Given the description of an element on the screen output the (x, y) to click on. 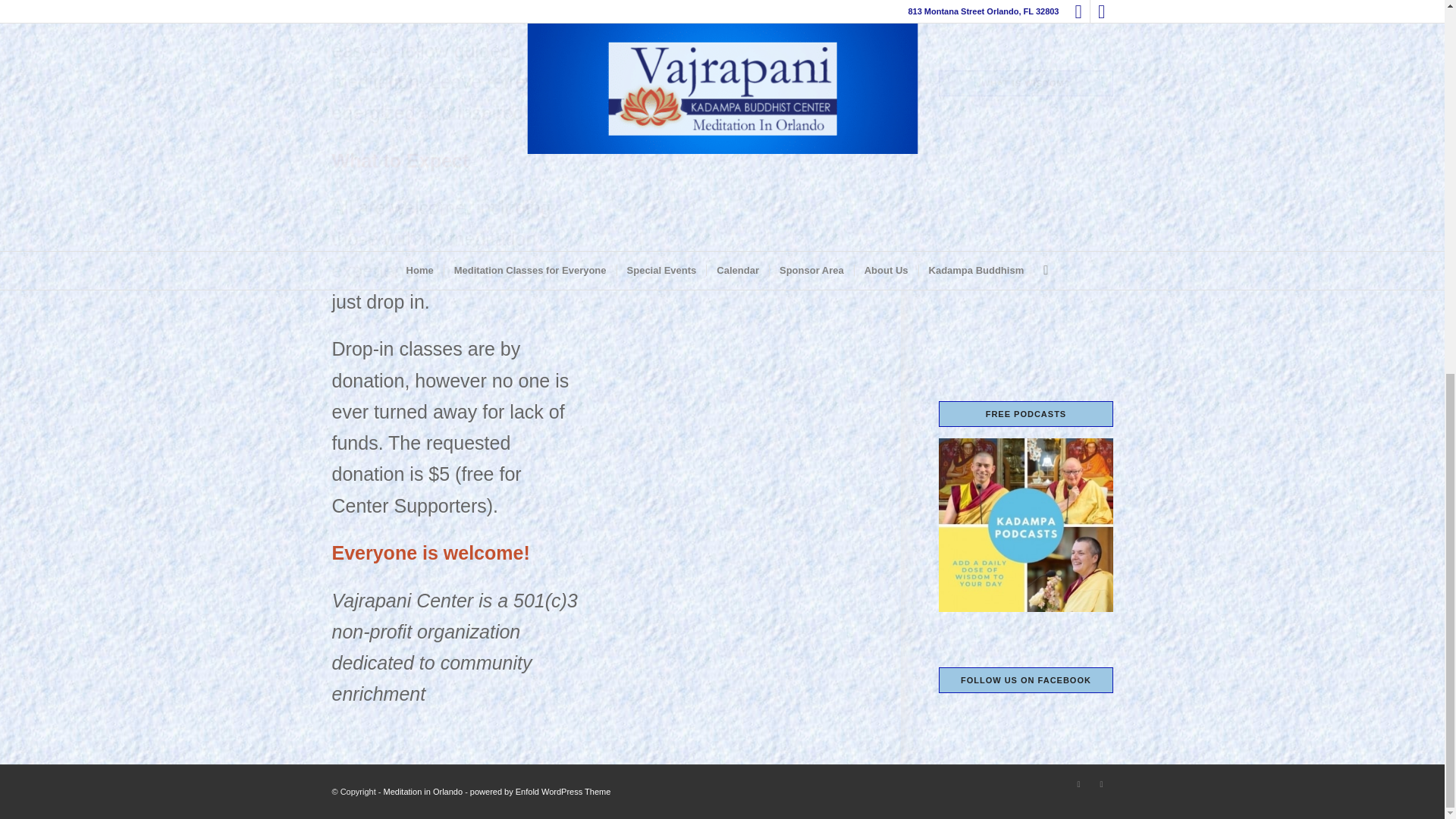
Free Podcasts (1025, 524)
Download Guided Meditations (1025, 7)
Facebook (1078, 784)
